Given the description of an element on the screen output the (x, y) to click on. 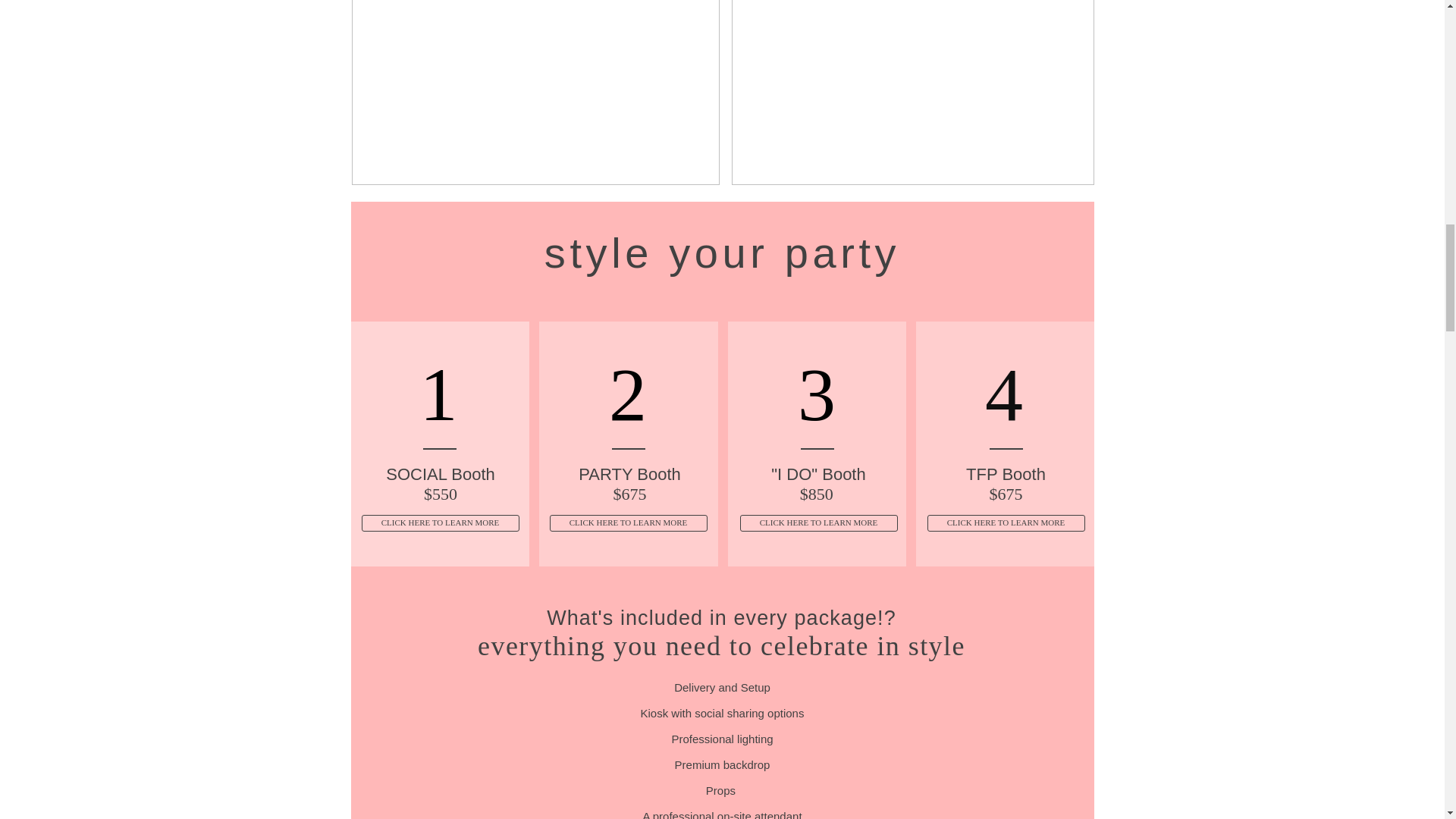
CLICK HERE TO LEARN MORE (439, 523)
2 (629, 393)
1 (440, 393)
CLICK HERE TO LEARN MORE (627, 523)
3 (818, 393)
CLICK HERE TO LEARN MORE (818, 523)
CLICK HERE TO LEARN MORE (1005, 523)
4 (1005, 393)
